Given the description of an element on the screen output the (x, y) to click on. 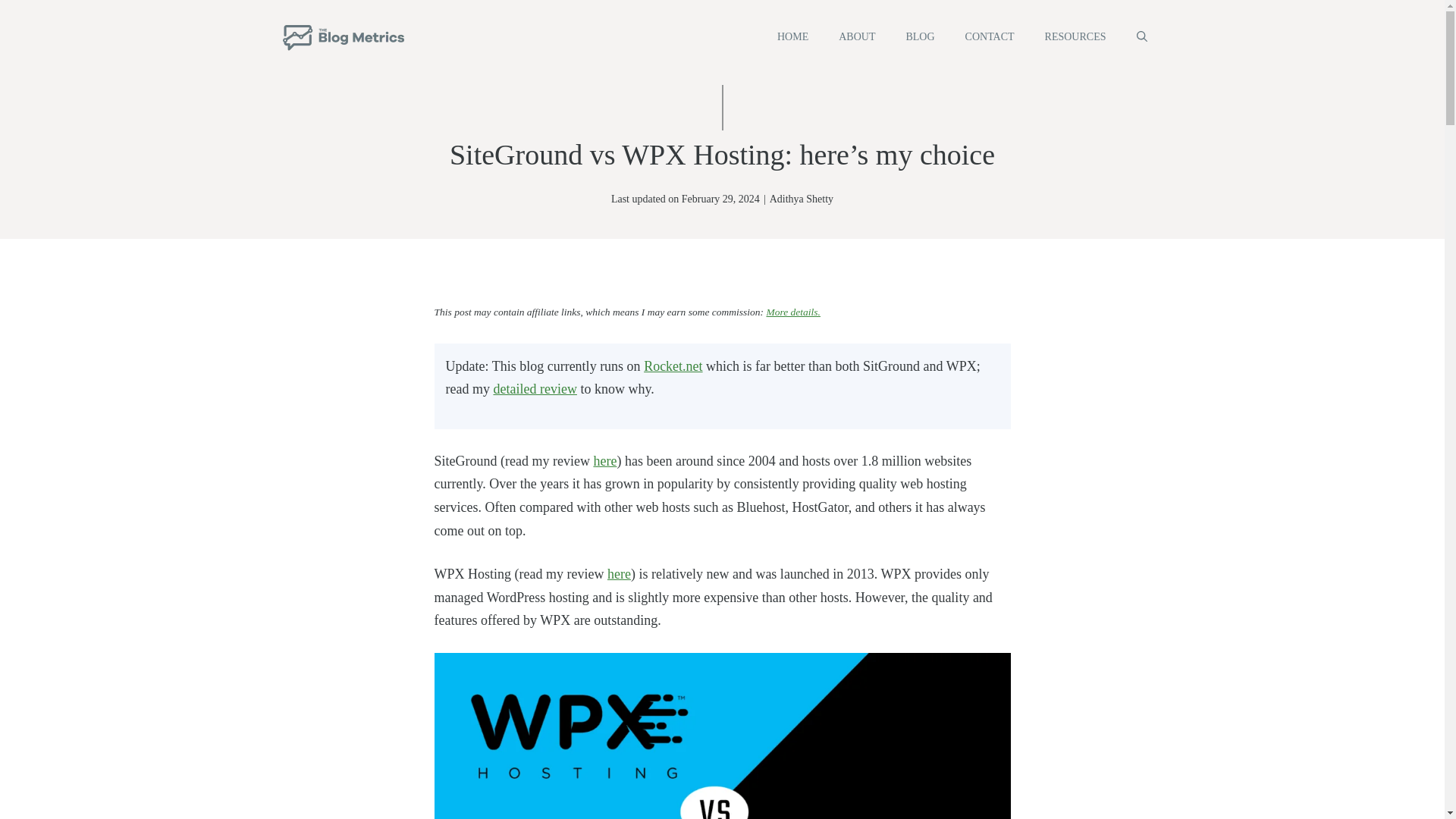
detailed review (534, 388)
More details. (793, 311)
here (618, 573)
ABOUT (856, 36)
BLOG (919, 36)
Rocket.net (672, 365)
RESOURCES (1075, 36)
CONTACT (989, 36)
here (603, 460)
HOME (792, 36)
